Given the description of an element on the screen output the (x, y) to click on. 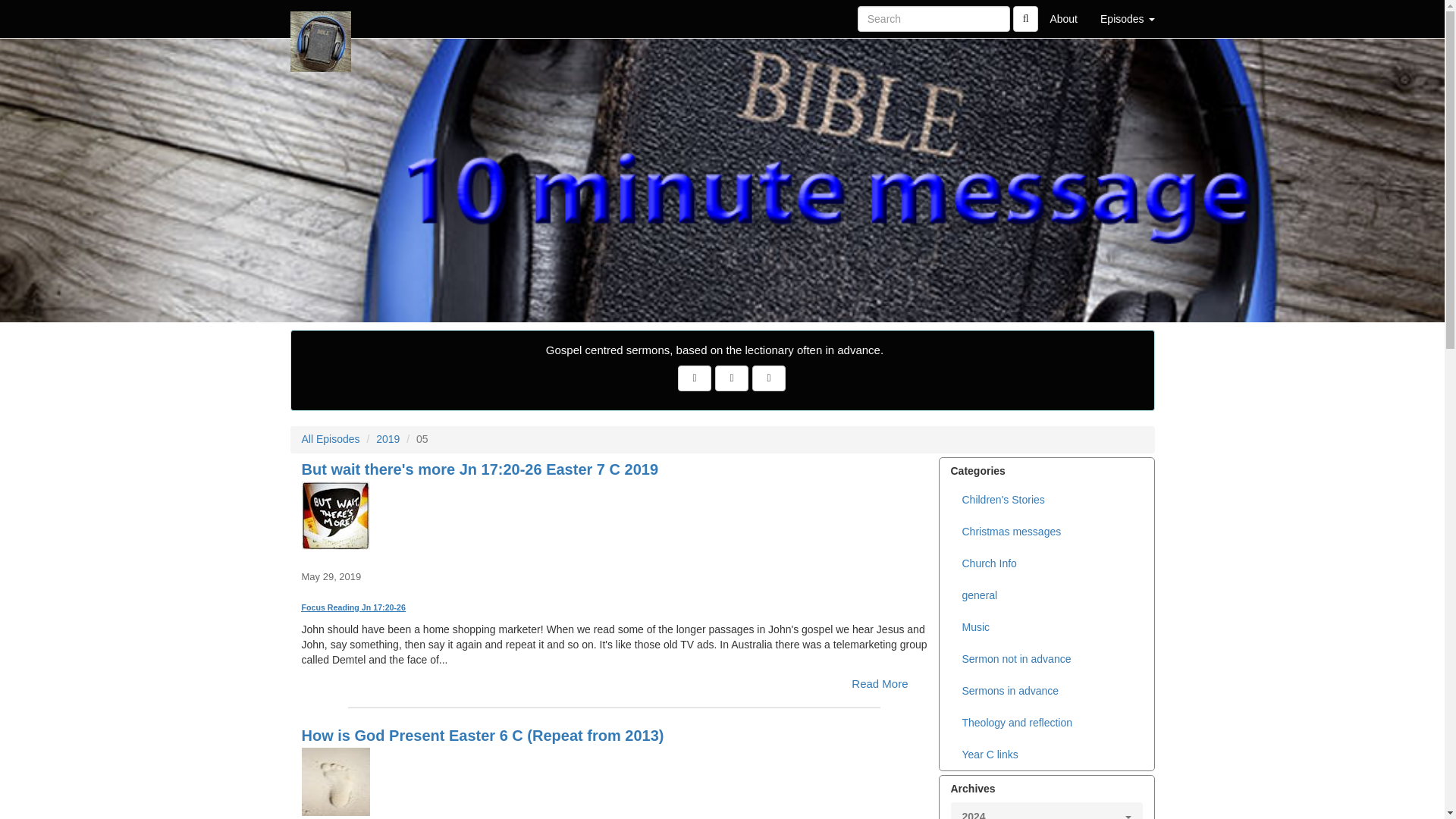
But wait there's more Jn 17:20-26 Easter 7 C 2019 (614, 515)
About (1063, 18)
Home Page (320, 18)
Episodes (1127, 18)
